Given the description of an element on the screen output the (x, y) to click on. 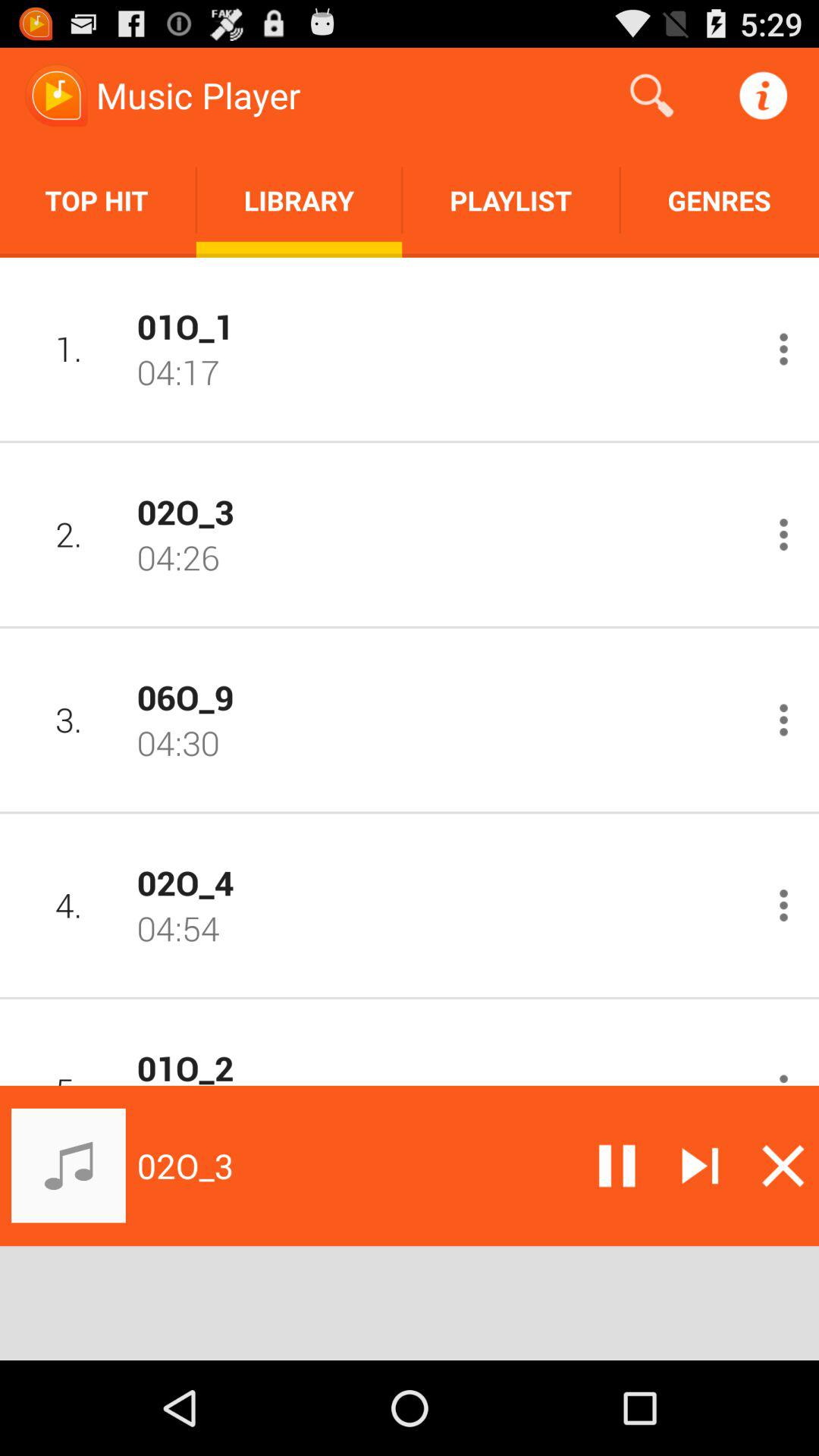
scroll to 4. (68, 905)
